Given the description of an element on the screen output the (x, y) to click on. 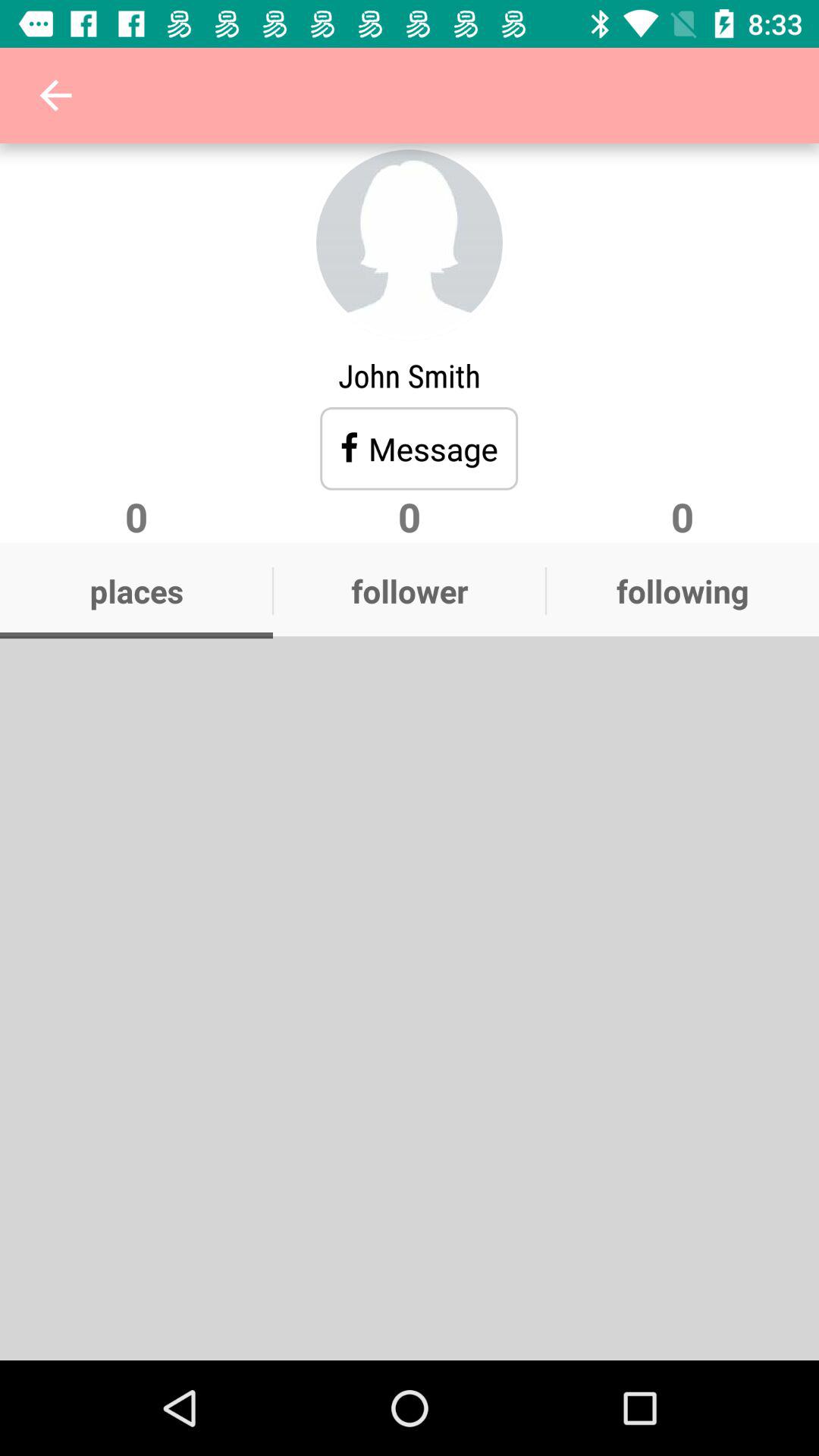
turn on icon to the left of the following item (409, 590)
